Given the description of an element on the screen output the (x, y) to click on. 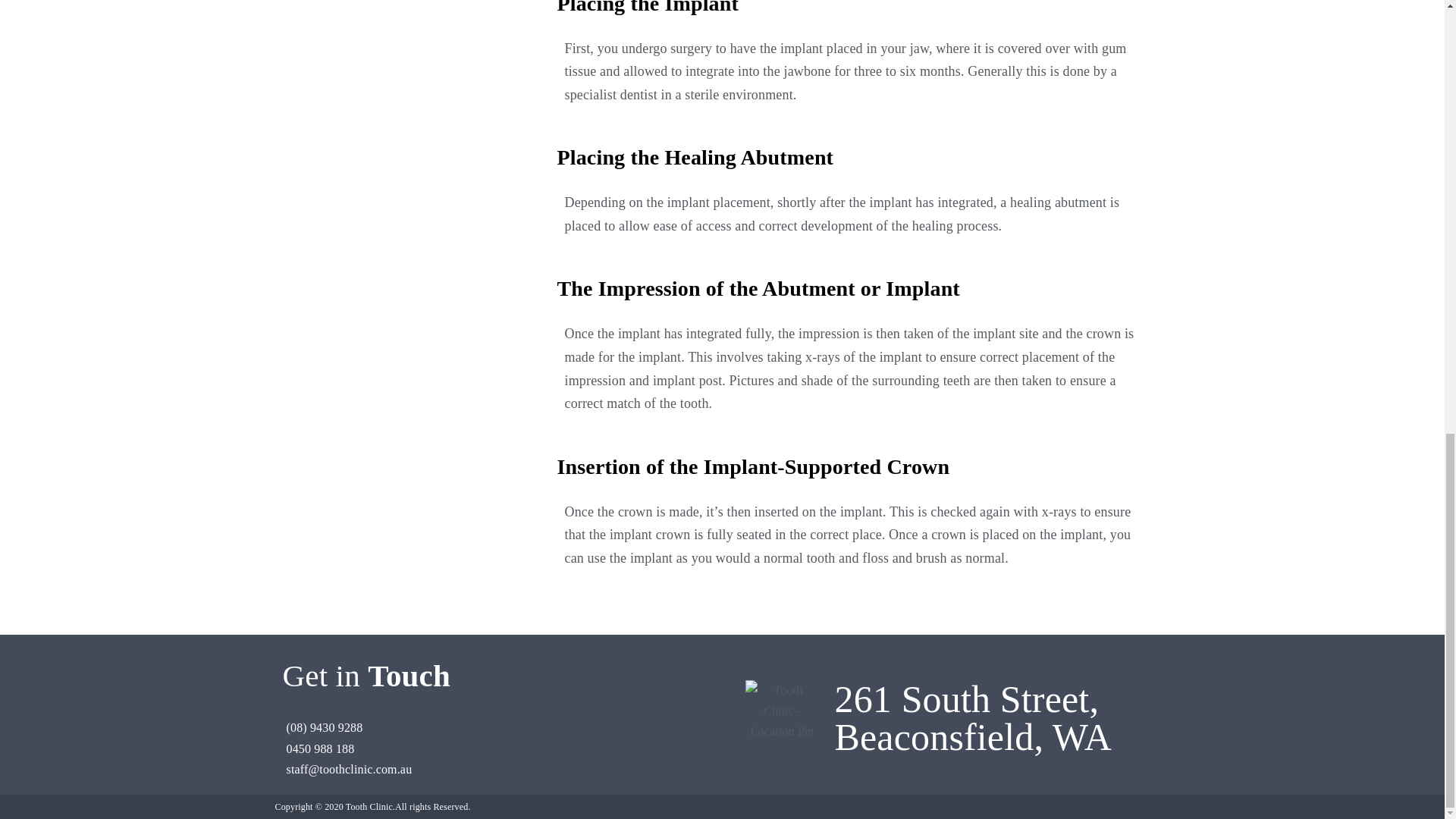
0450 988 188 (502, 748)
261 South Street, (966, 699)
Beaconsfield, WA (972, 736)
